Given the description of an element on the screen output the (x, y) to click on. 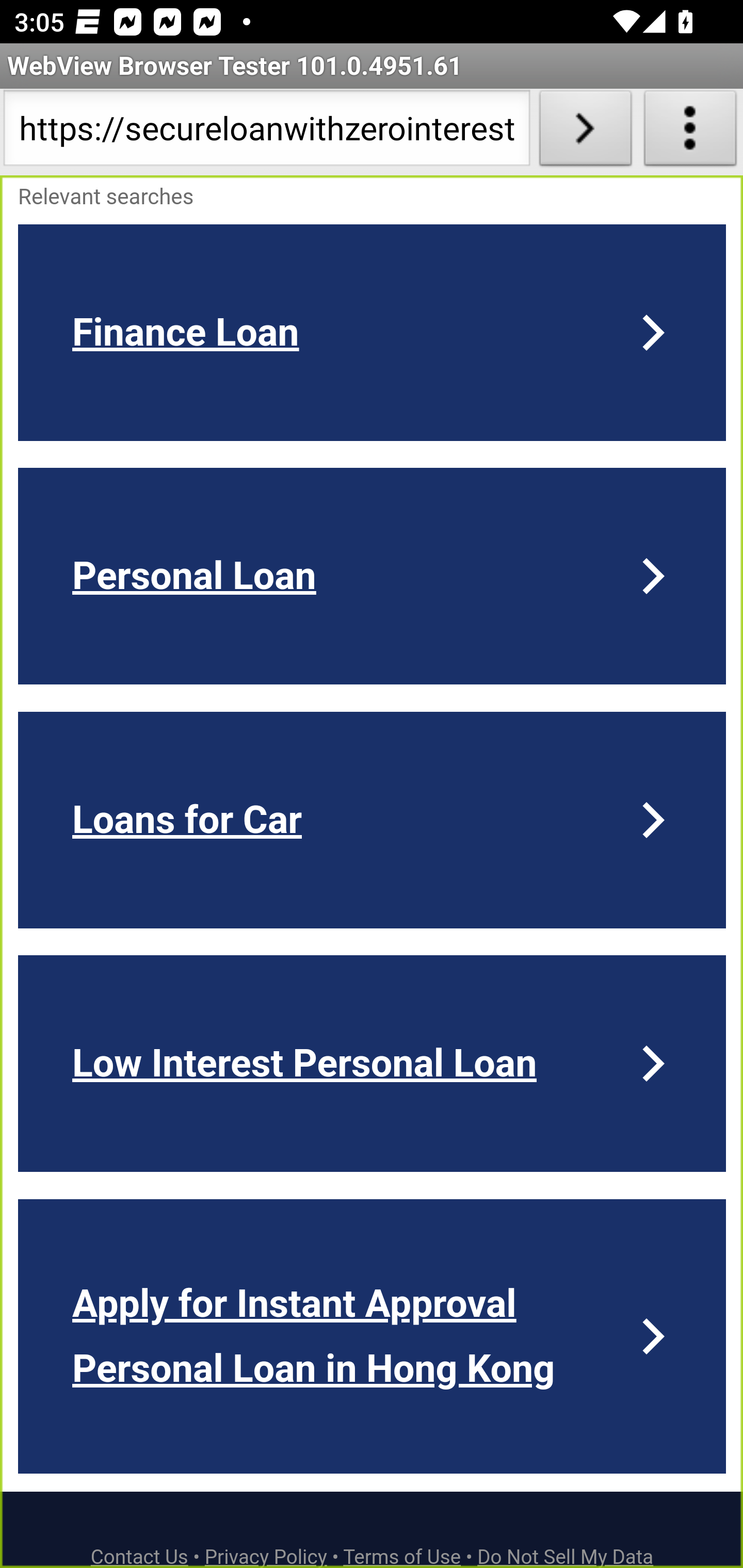
Load URL (585, 132)
About WebView (690, 132)
Finance Loan (372, 332)
Personal Loan (372, 576)
Loans for Car (372, 819)
Low Interest Personal Loan (372, 1062)
Contact Us (139, 1556)
Privacy Policy (265, 1556)
Terms of Use (402, 1556)
Do Not Sell My Data (566, 1556)
